Given the description of an element on the screen output the (x, y) to click on. 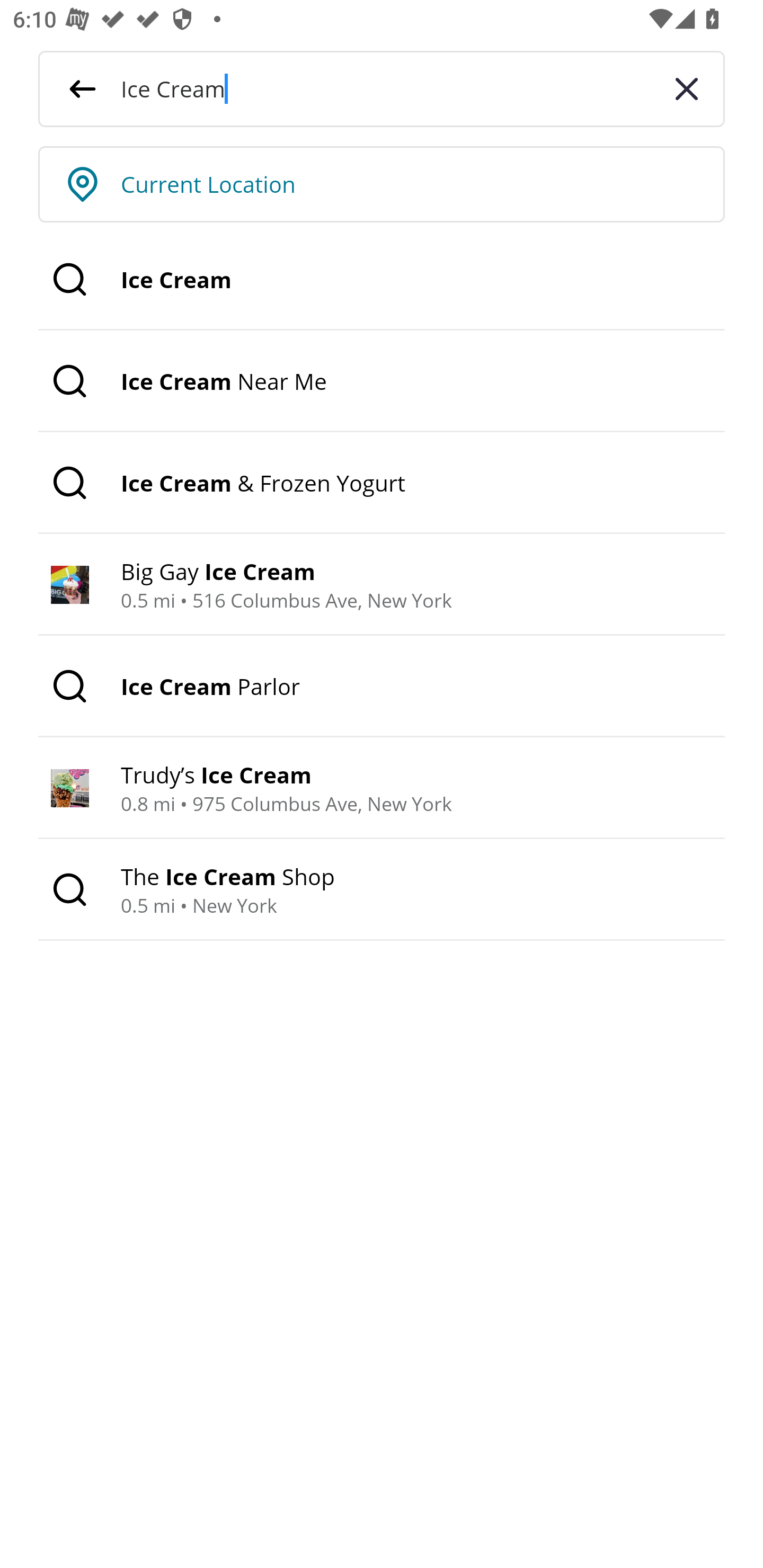
Ice Cream (381, 279)
